Given the description of an element on the screen output the (x, y) to click on. 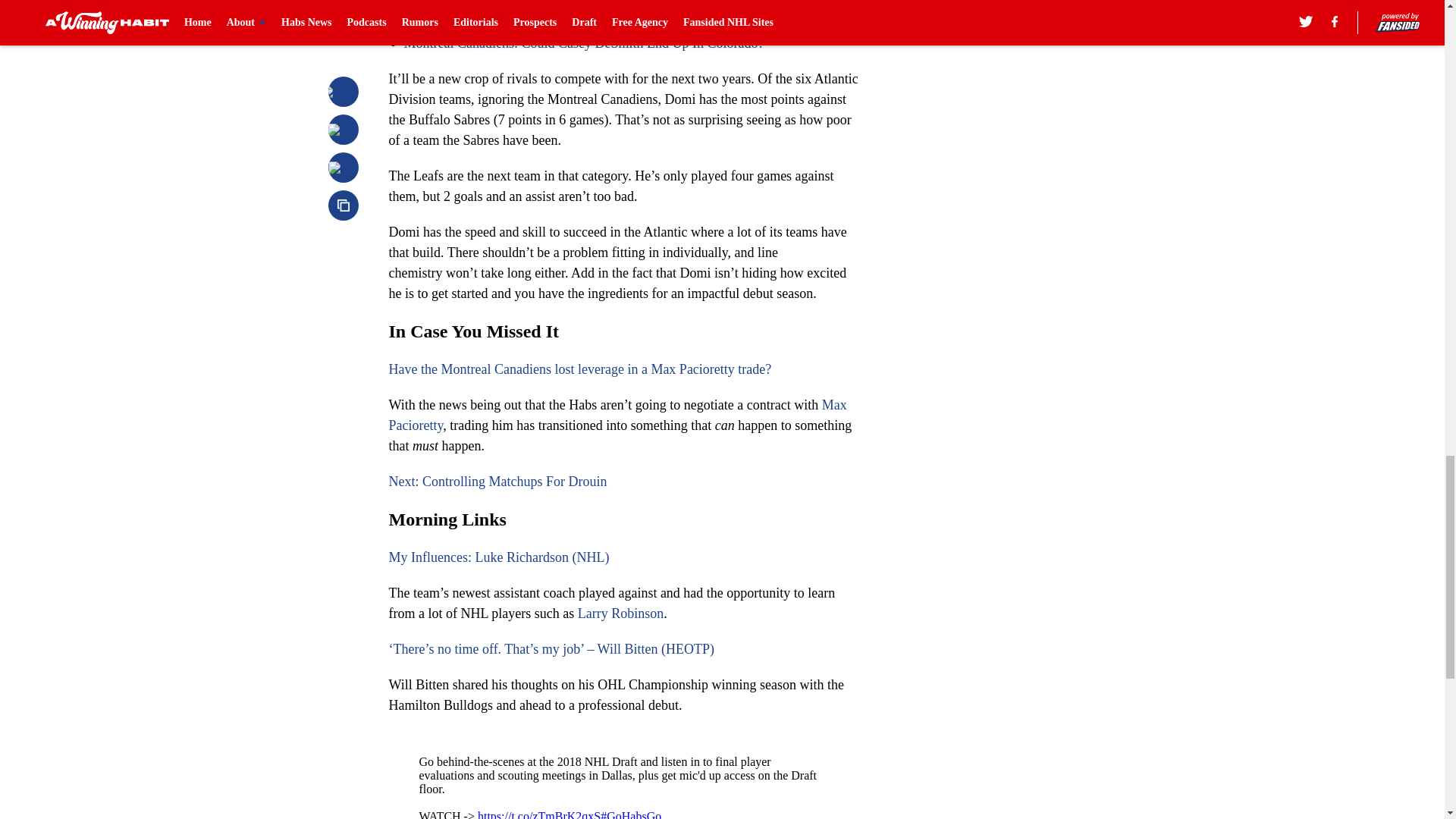
Max Pacioretty (616, 415)
Next: Controlling Matchups For Drouin (497, 481)
Montreal Canadiens: Worst Move Of The Pierre Gauthier Era (571, 22)
Montreal Canadiens: Could Casey DeSmith End Up In Colorado? (582, 43)
Larry Robinson (620, 613)
